Given the description of an element on the screen output the (x, y) to click on. 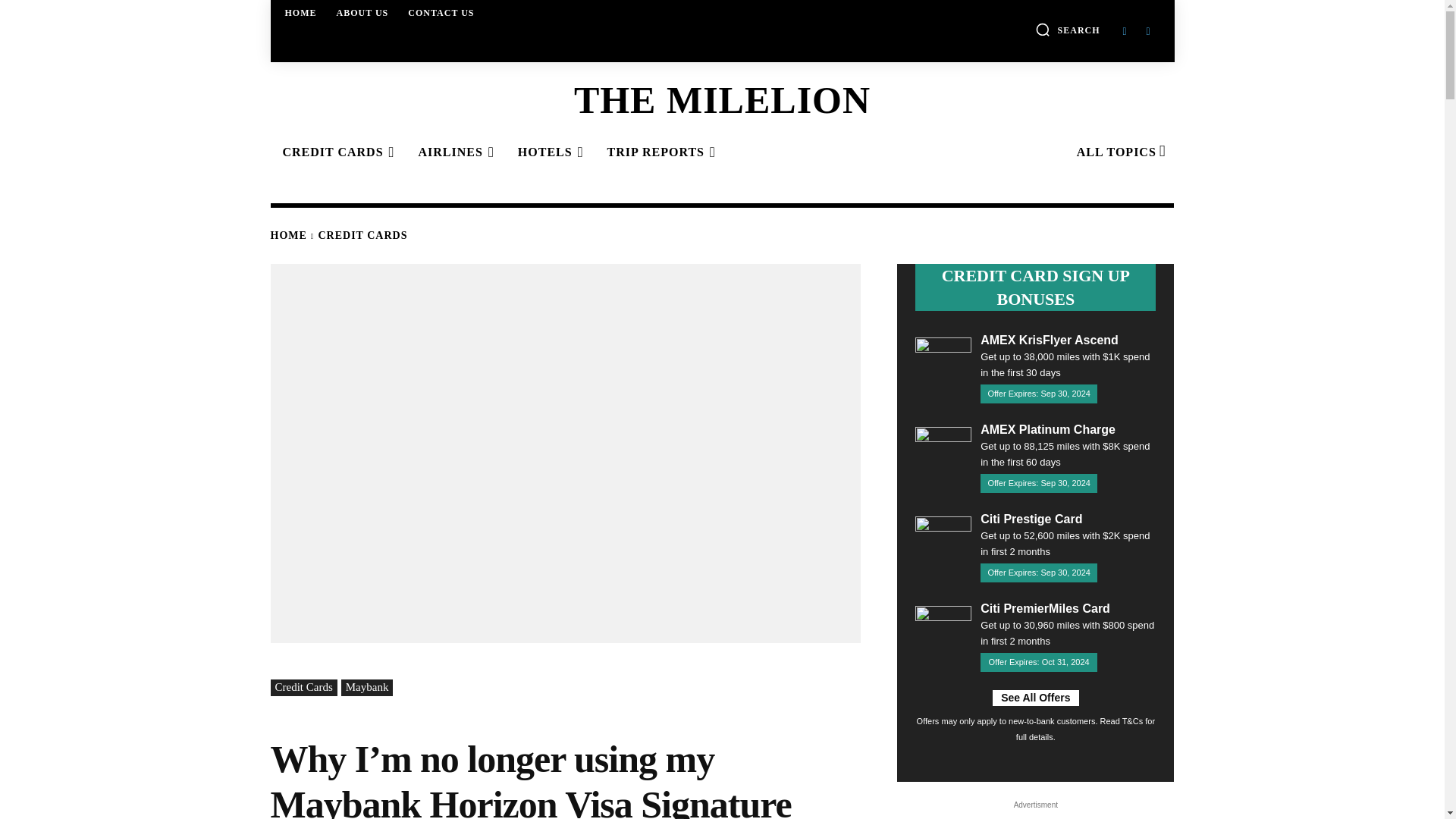
ABOUT US (362, 12)
THE MILELION (721, 99)
Facebook (1124, 30)
Instagram (1148, 30)
HOME (301, 12)
View all posts in Credit Cards (362, 235)
CONTACT US (440, 12)
SEARCH (1067, 29)
ALL TOPICS (1118, 152)
